Given the description of an element on the screen output the (x, y) to click on. 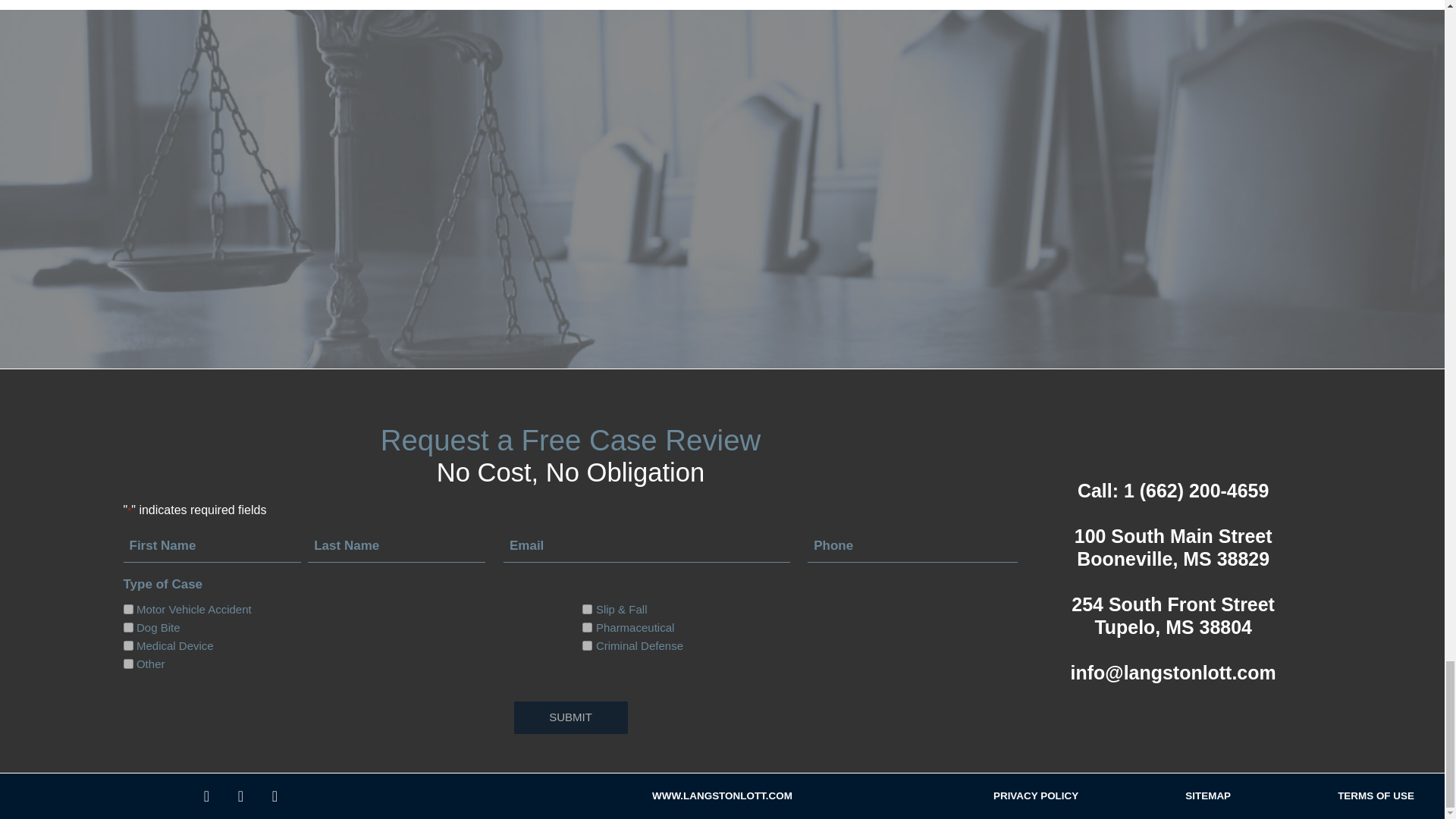
Dog Bite (127, 627)
Criminal Defense (587, 645)
Motor Vehicle Accident (127, 609)
Pharmaceutical (587, 627)
Other (127, 664)
Medical Device (127, 645)
Submit (570, 717)
